Given the description of an element on the screen output the (x, y) to click on. 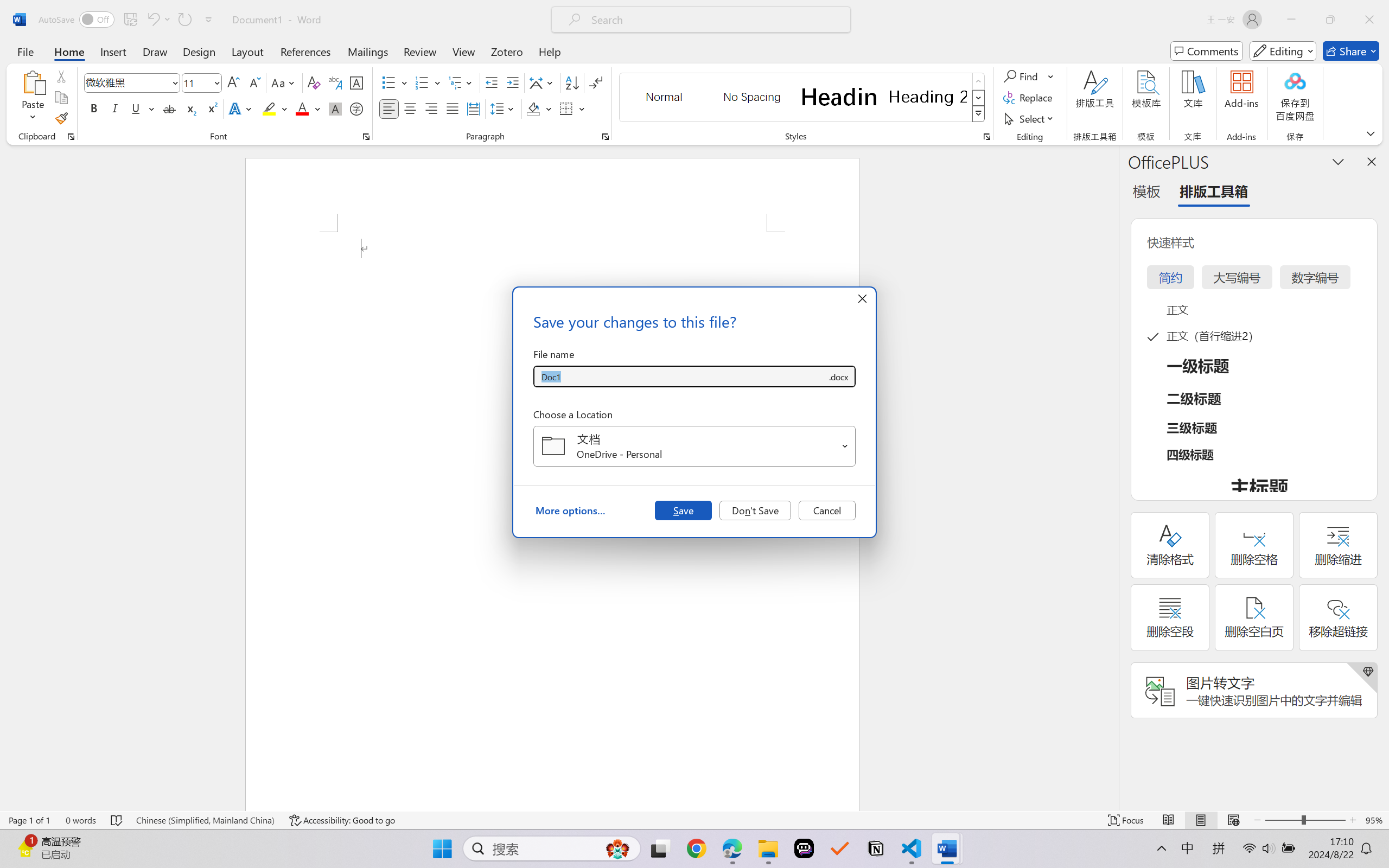
Zoom 95% (1374, 819)
